Given the description of an element on the screen output the (x, y) to click on. 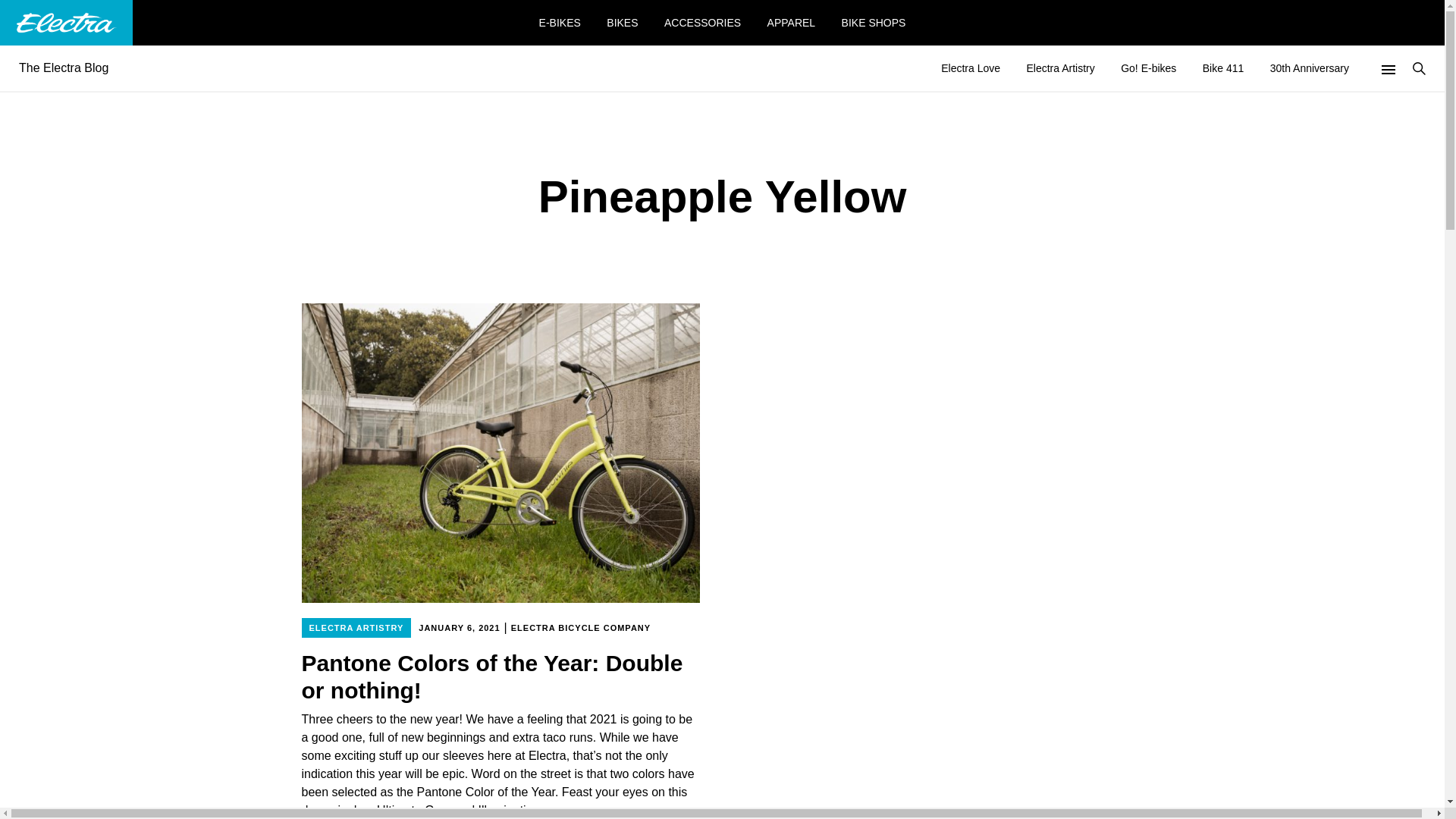
APPAREL (791, 22)
Bike 411 (1223, 67)
ELECTRA BICYCLE COMPANY (579, 628)
Pantone Colors of the Year: Double or nothing! (500, 677)
30th Anniversary (1309, 67)
BIKE SHOPS (873, 22)
Electra Artistry (1059, 67)
ACCESSORIES (702, 22)
Go! E-bikes (1148, 67)
